Given the description of an element on the screen output the (x, y) to click on. 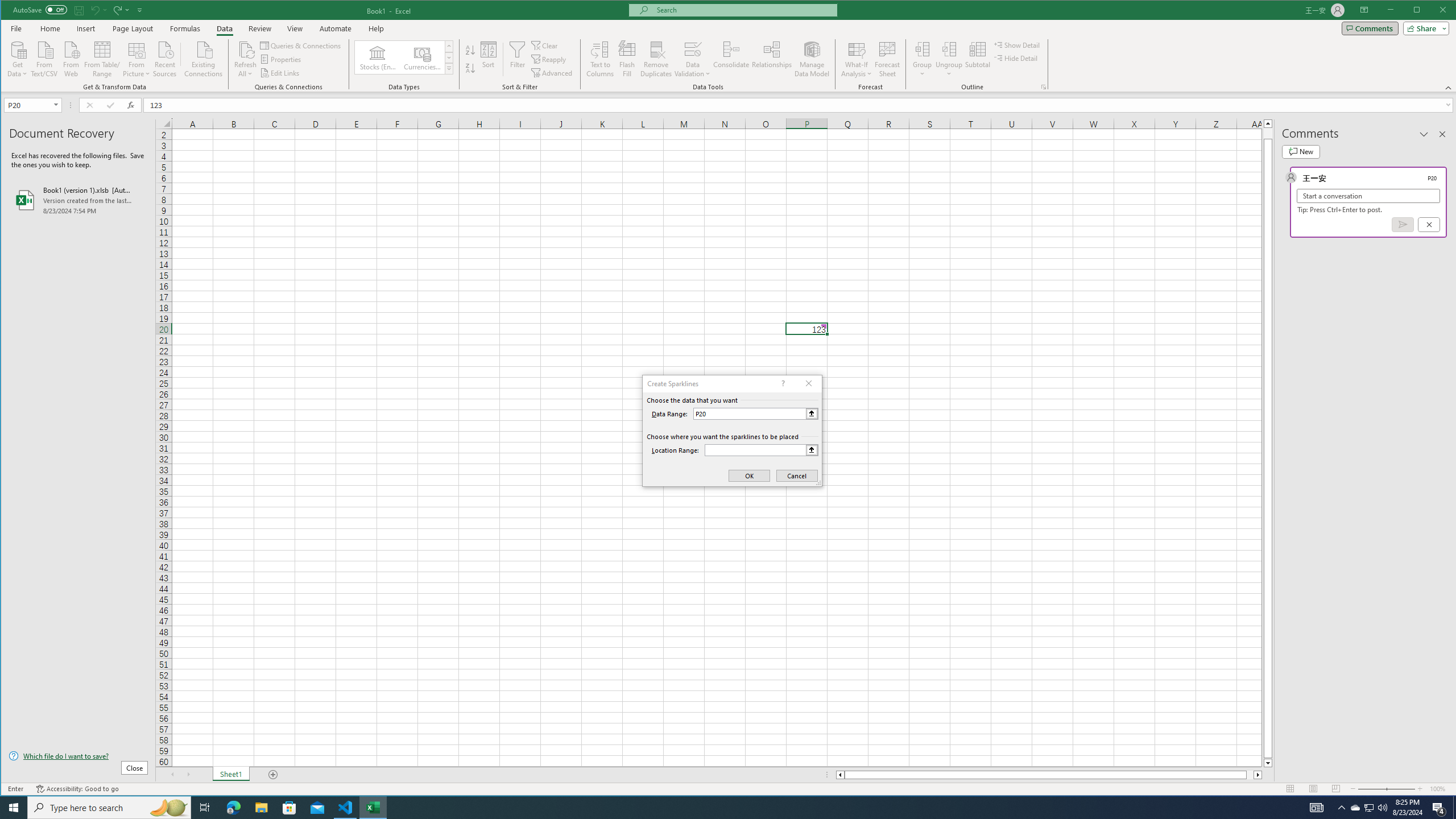
Refresh All (244, 59)
Review (259, 28)
Queries & Connections (301, 45)
Share (1423, 27)
From Picture (136, 57)
System (11, 10)
Subtotal (977, 59)
Edit Links (279, 72)
Redo (120, 9)
Close (1445, 11)
Consolidate... (731, 59)
Maximize (1432, 11)
Page Layout (1312, 788)
Scroll Left (172, 774)
Add Sheet (272, 774)
